Given the description of an element on the screen output the (x, y) to click on. 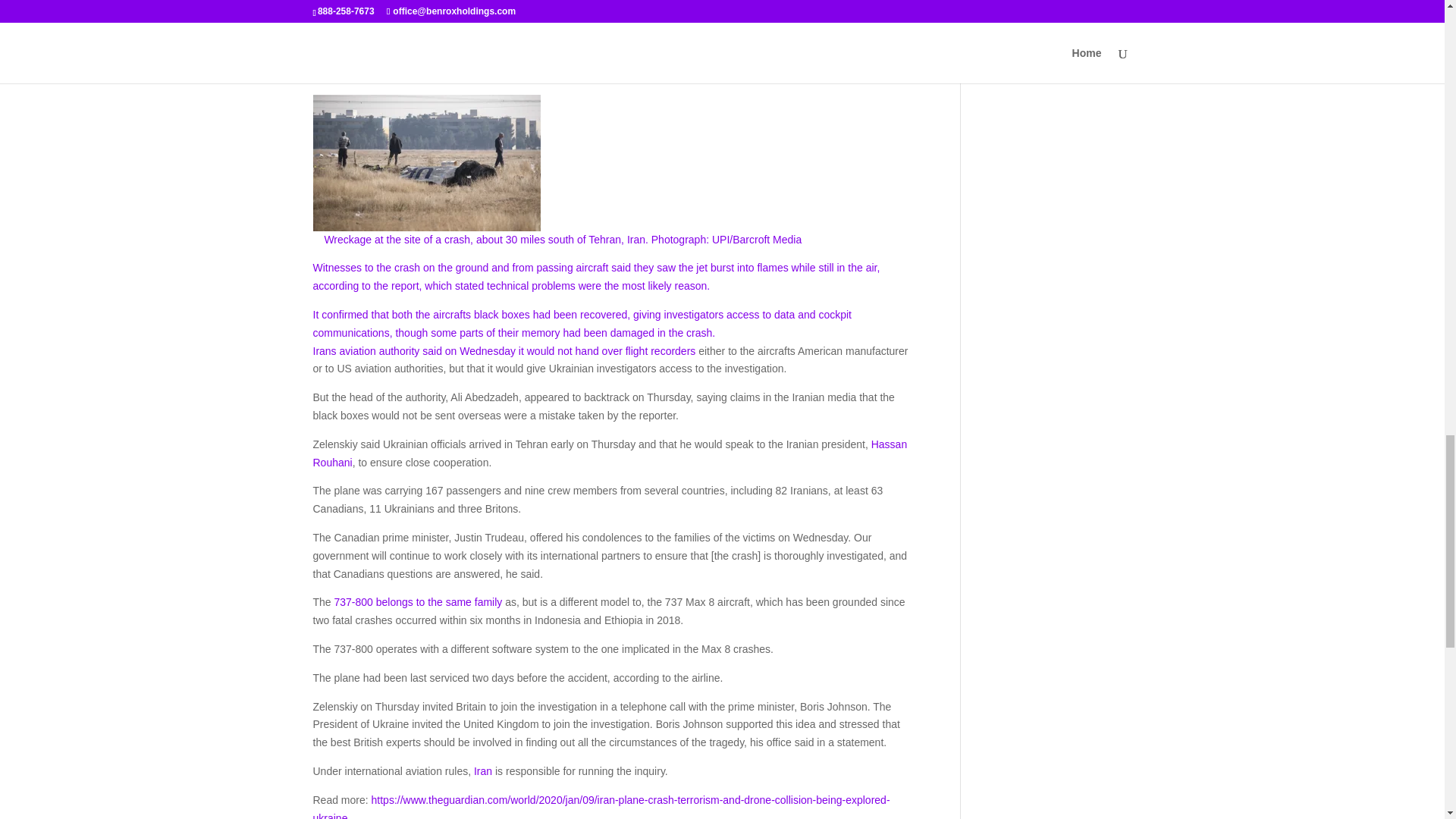
hand over flight recorders (635, 350)
Irans aviation authority said on Wednesday it would not (444, 350)
Hassan Rouhani (610, 453)
737-800 belongs to the same family (418, 602)
Iran (483, 770)
